Given the description of an element on the screen output the (x, y) to click on. 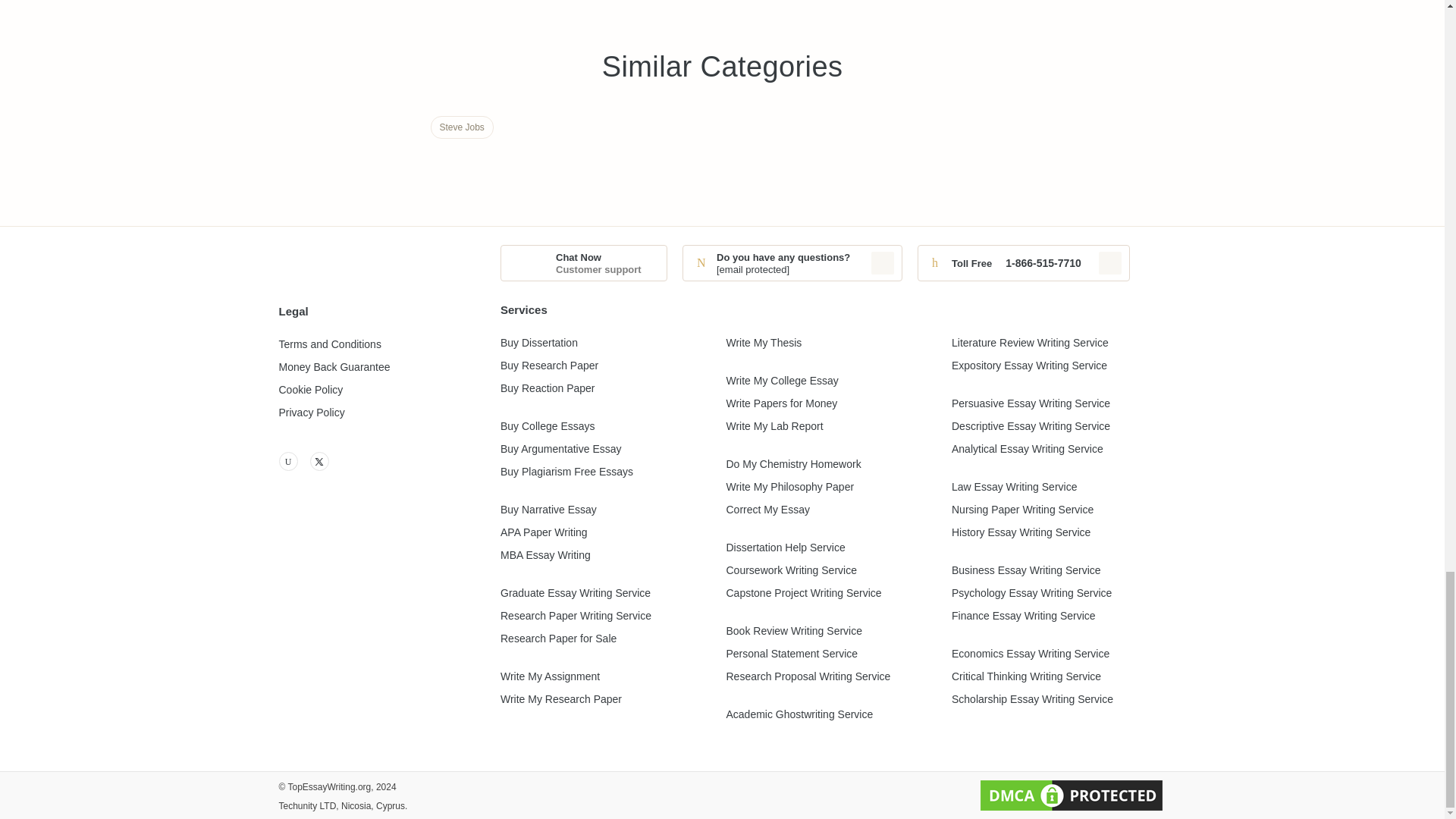
Copied to clipboard (1110, 262)
DMCA.com Protection Status (1071, 795)
Copied to clipboard (881, 262)
